Given the description of an element on the screen output the (x, y) to click on. 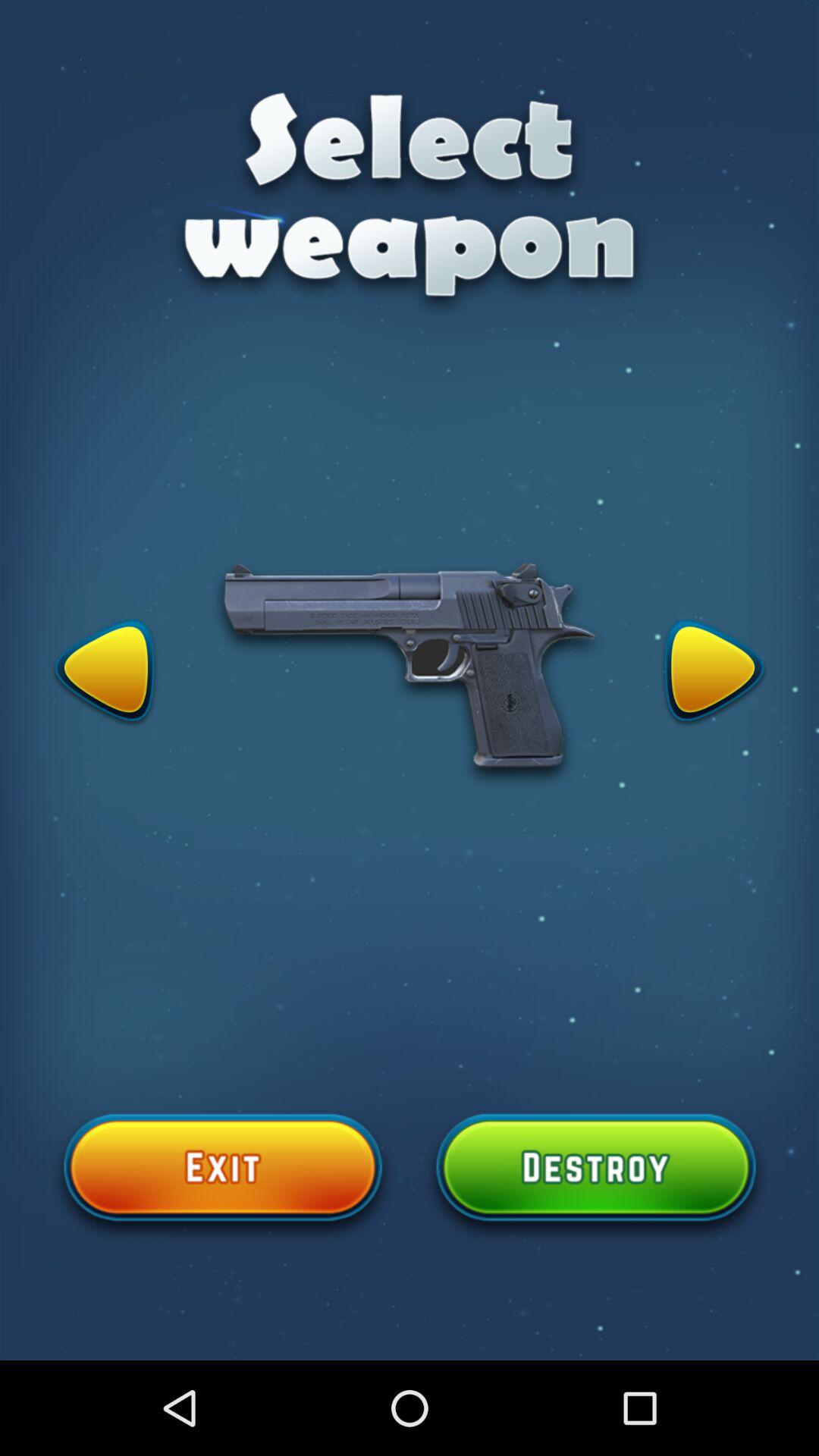
open icon on the left (104, 673)
